Given the description of an element on the screen output the (x, y) to click on. 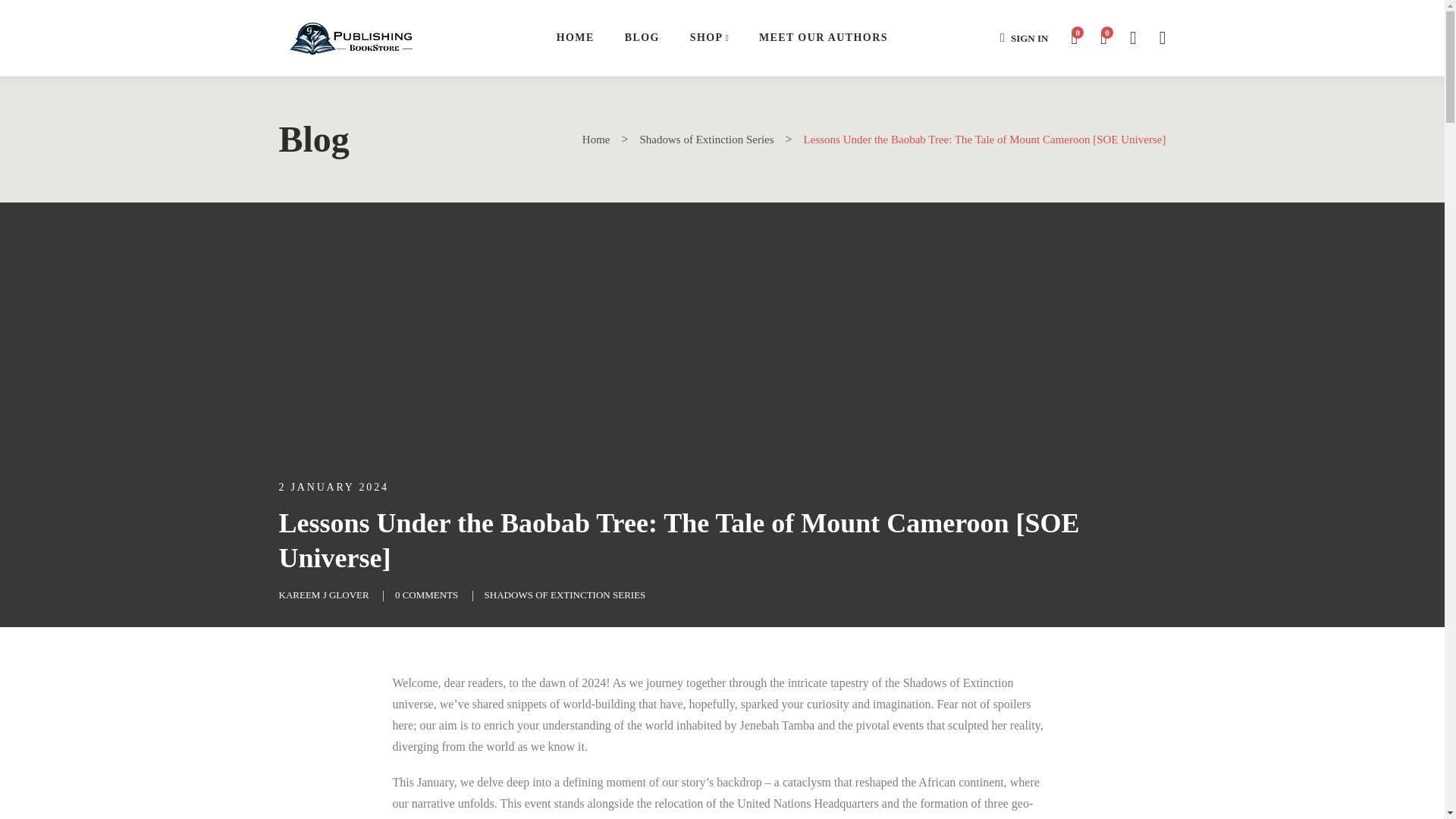
MEET OUR AUTHORS (823, 38)
Browse Author Articles (325, 594)
Home (596, 139)
SIGN IN (1024, 37)
2 JANUARY 2024 (333, 487)
Shadows of Extinction Series (707, 139)
SHADOWS OF EXTINCTION SERIES (565, 594)
KAREEM J GLOVER (325, 594)
0 COMMENTS (426, 594)
Sign in (1024, 37)
